Given the description of an element on the screen output the (x, y) to click on. 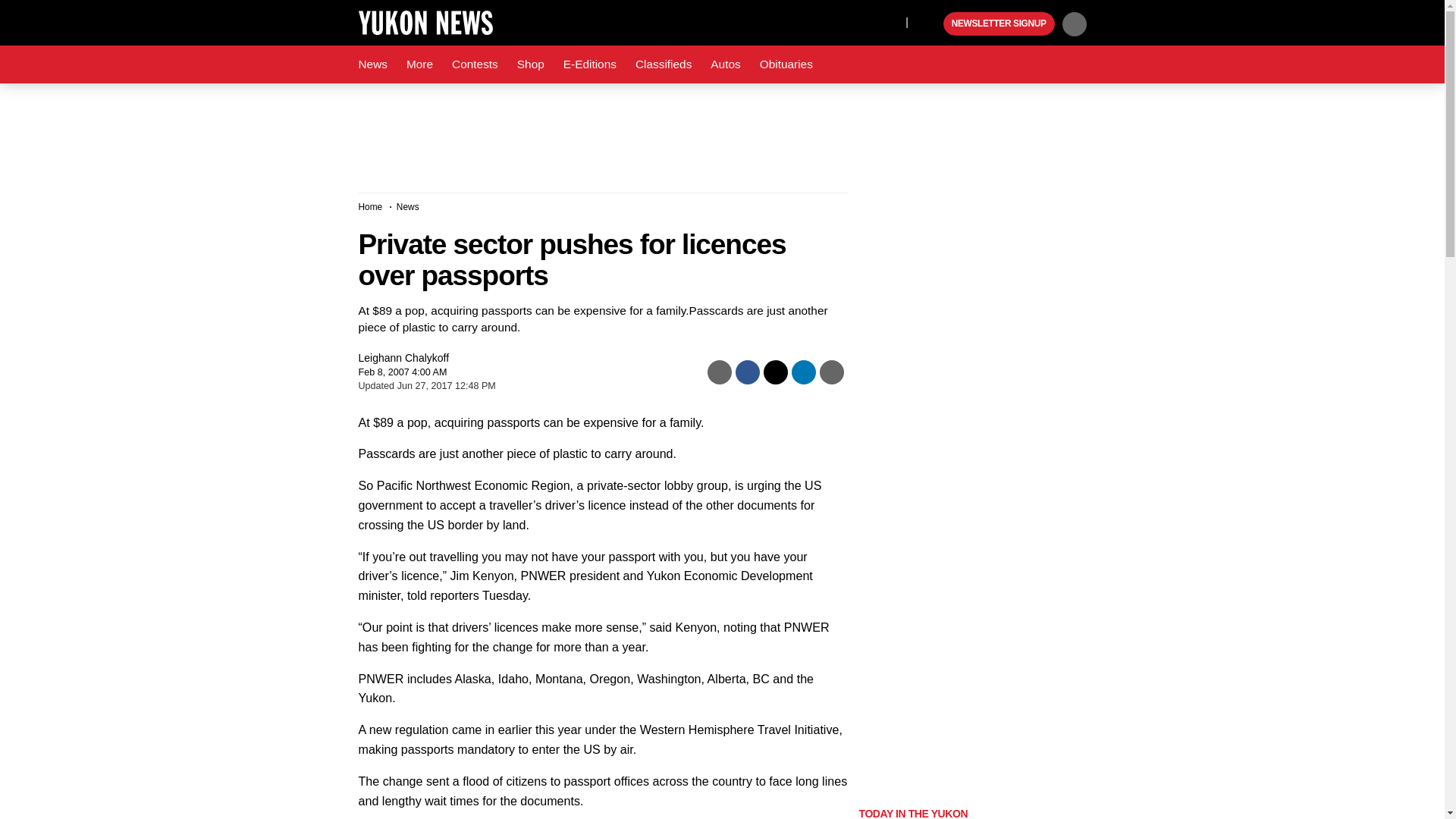
Black Press Media (929, 24)
NEWSLETTER SIGNUP (998, 24)
News (372, 64)
X (889, 21)
Play (929, 24)
